Given the description of an element on the screen output the (x, y) to click on. 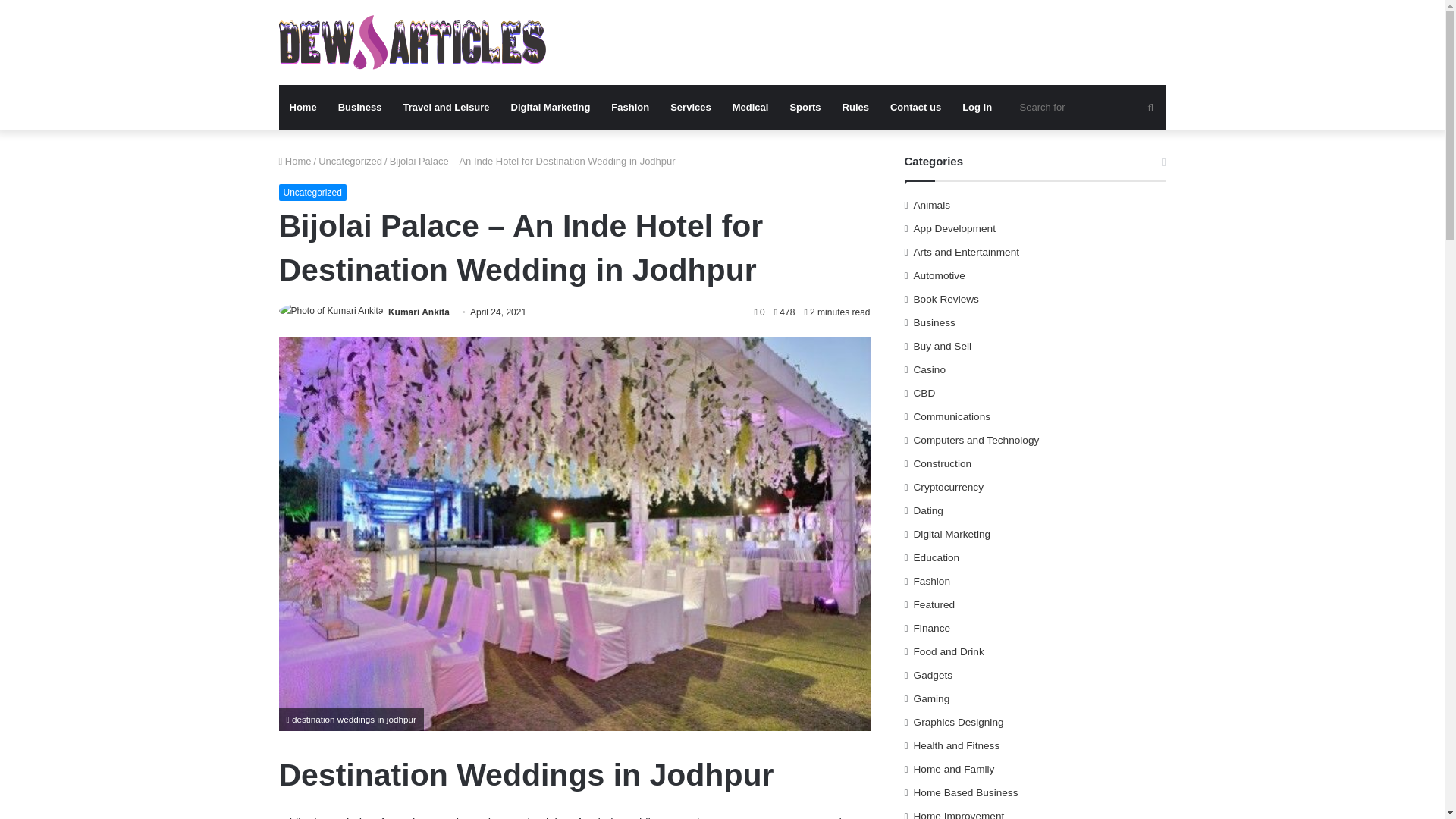
Kumari Ankita (418, 312)
Log In (977, 107)
Home (295, 161)
Dew Articles (412, 42)
Travel and Leisure (445, 107)
Medical (750, 107)
Fashion (629, 107)
Kumari Ankita (418, 312)
Contact us (915, 107)
Uncategorized (312, 192)
